Given the description of an element on the screen output the (x, y) to click on. 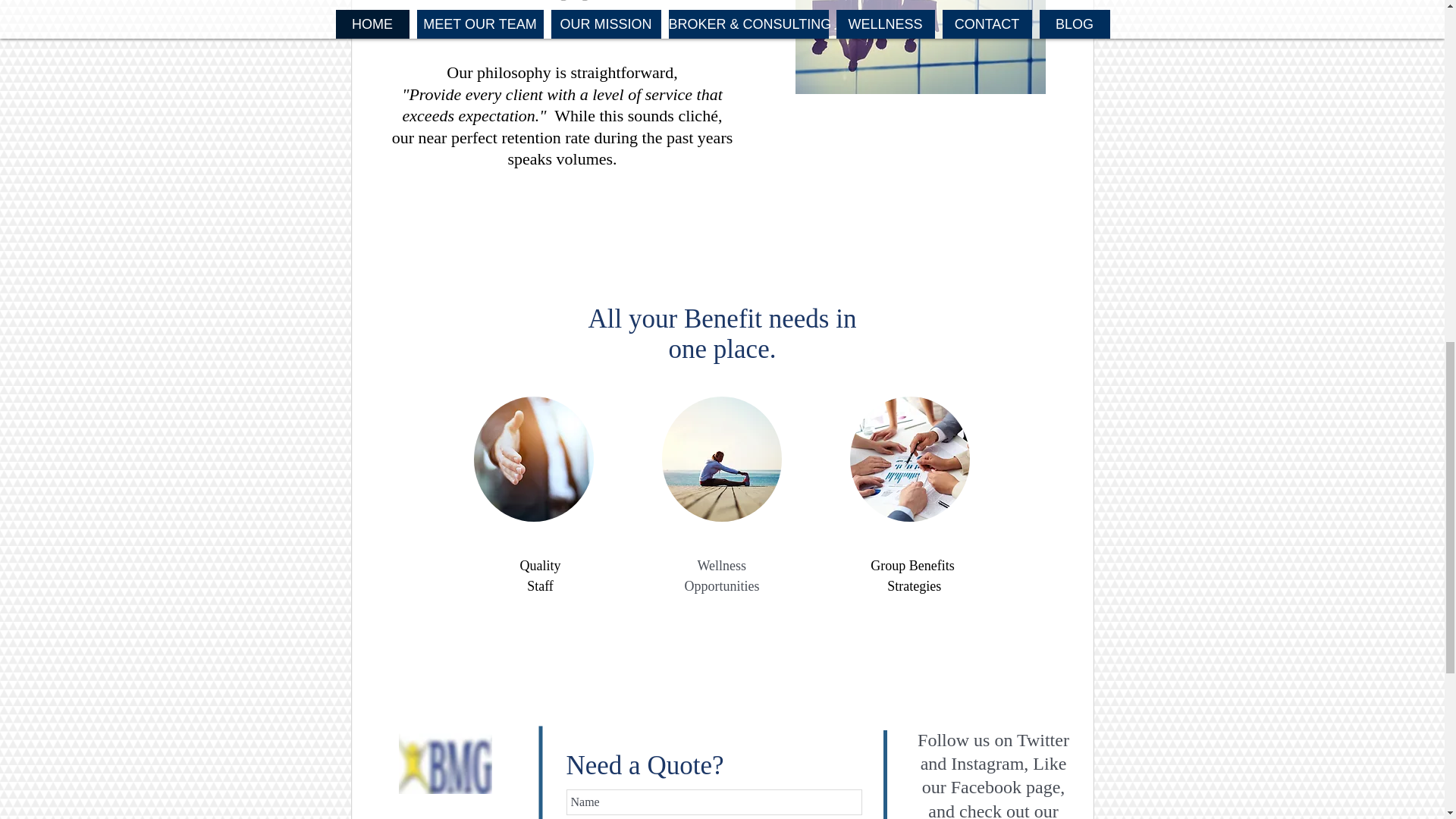
Modern Office (919, 47)
Staff (540, 585)
Group Benefits (911, 565)
Wellness (721, 565)
Edited Image 2015-5-20-10:44:51 (445, 763)
Quality (539, 565)
